Given the description of an element on the screen output the (x, y) to click on. 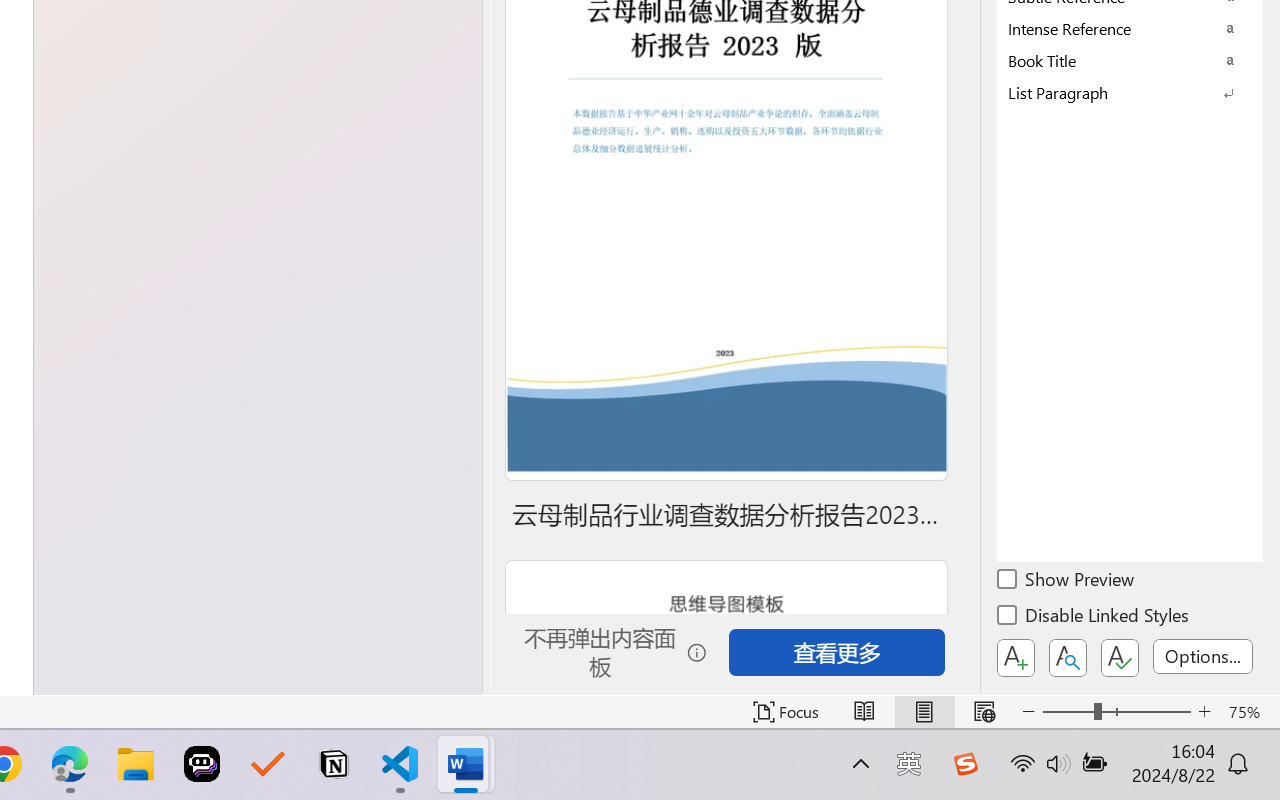
Class: NetUIButton (1119, 657)
Show Preview (1067, 582)
Print Layout (924, 712)
Class: Image (965, 764)
Zoom (1116, 712)
Focus  (786, 712)
Zoom In (1204, 712)
Book Title (1130, 60)
Zoom Out (1067, 712)
Web Layout (984, 712)
Read Mode (864, 712)
List Paragraph (1130, 92)
Class: NetUIImage (1116, 92)
